Given the description of an element on the screen output the (x, y) to click on. 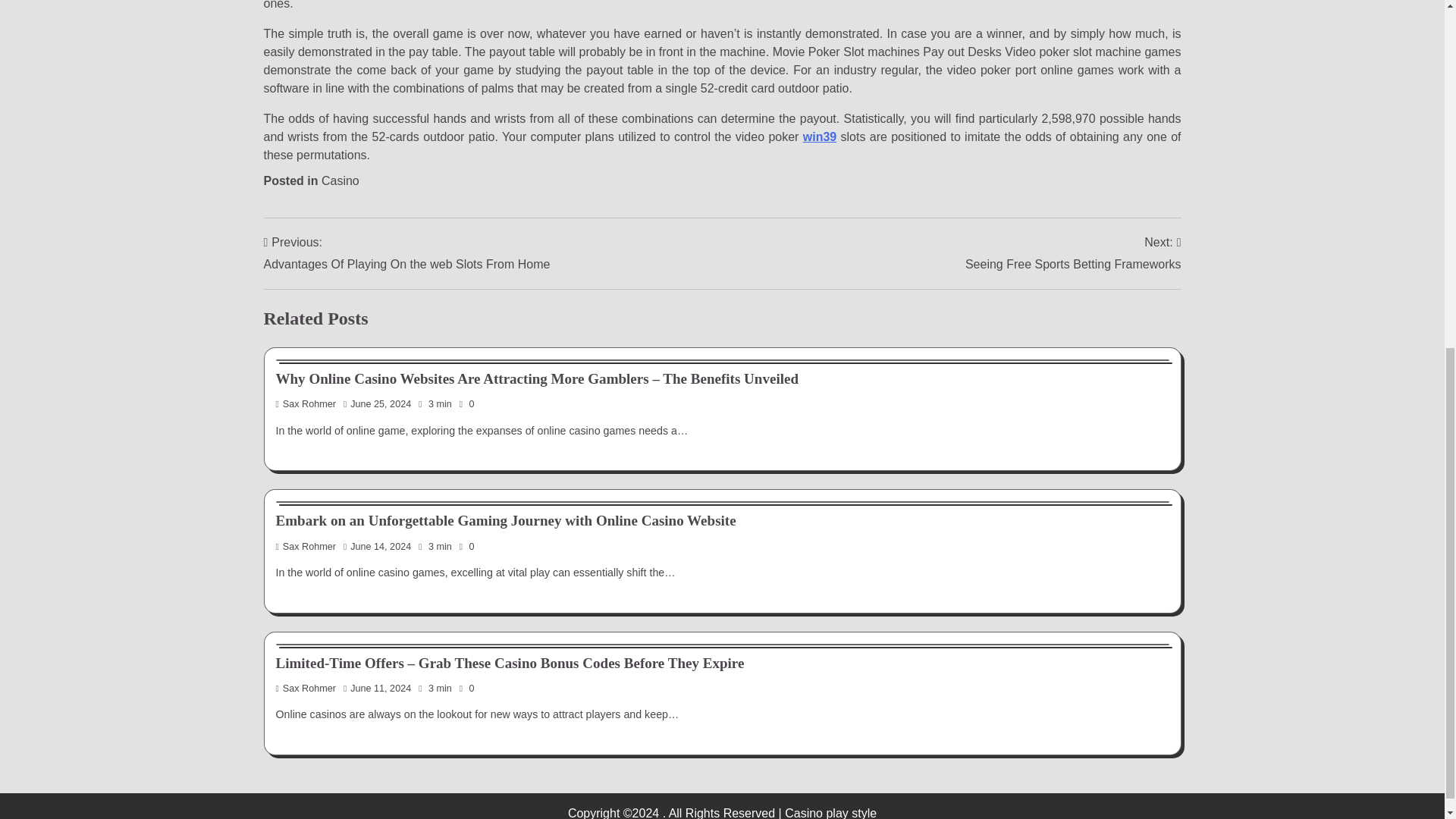
Sax Rohmer (306, 546)
win39 (819, 136)
Sax Rohmer (306, 403)
Casino (340, 180)
Sax Rohmer (306, 688)
